Given the description of an element on the screen output the (x, y) to click on. 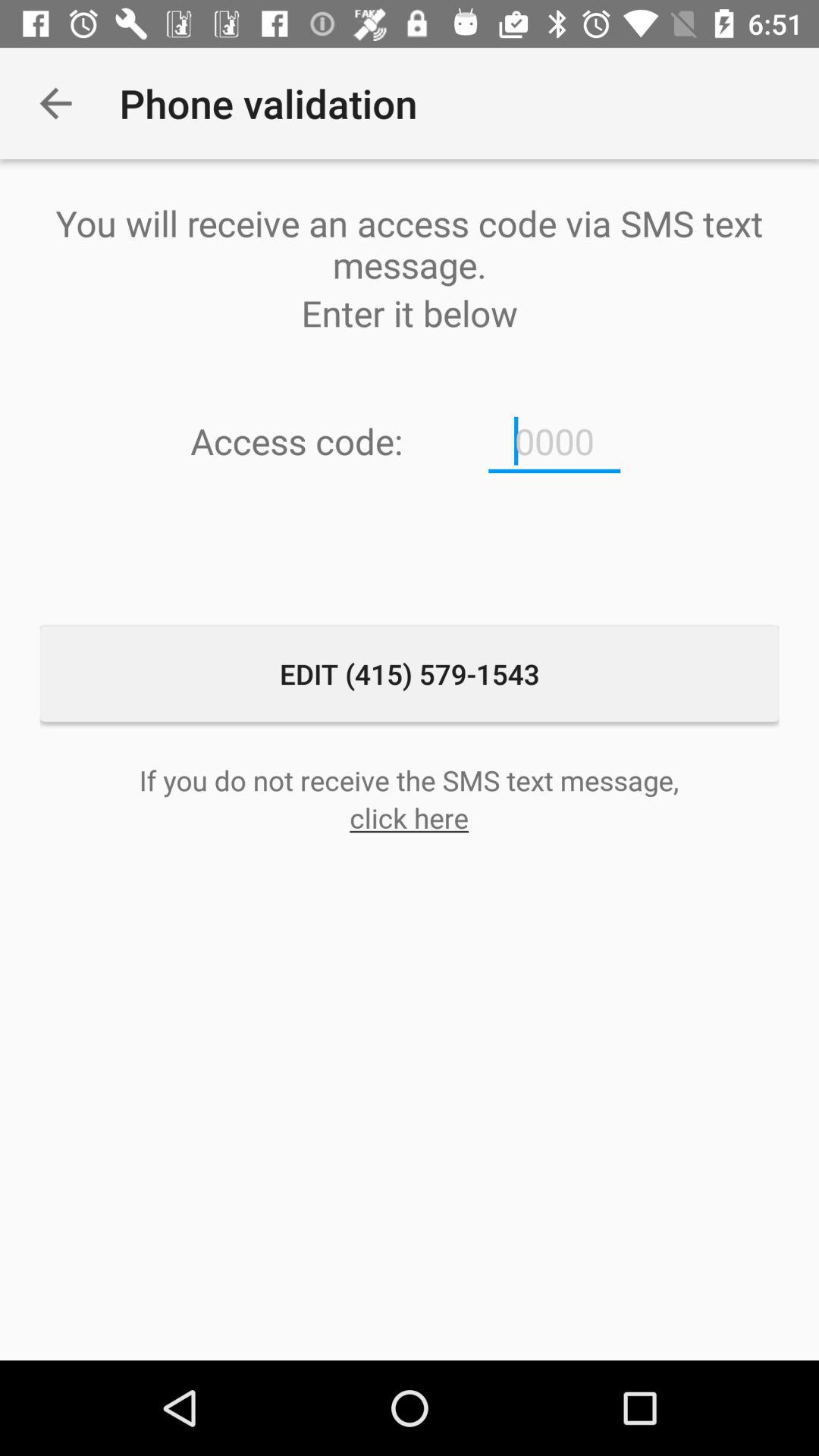
scroll to if you do item (409, 780)
